Given the description of an element on the screen output the (x, y) to click on. 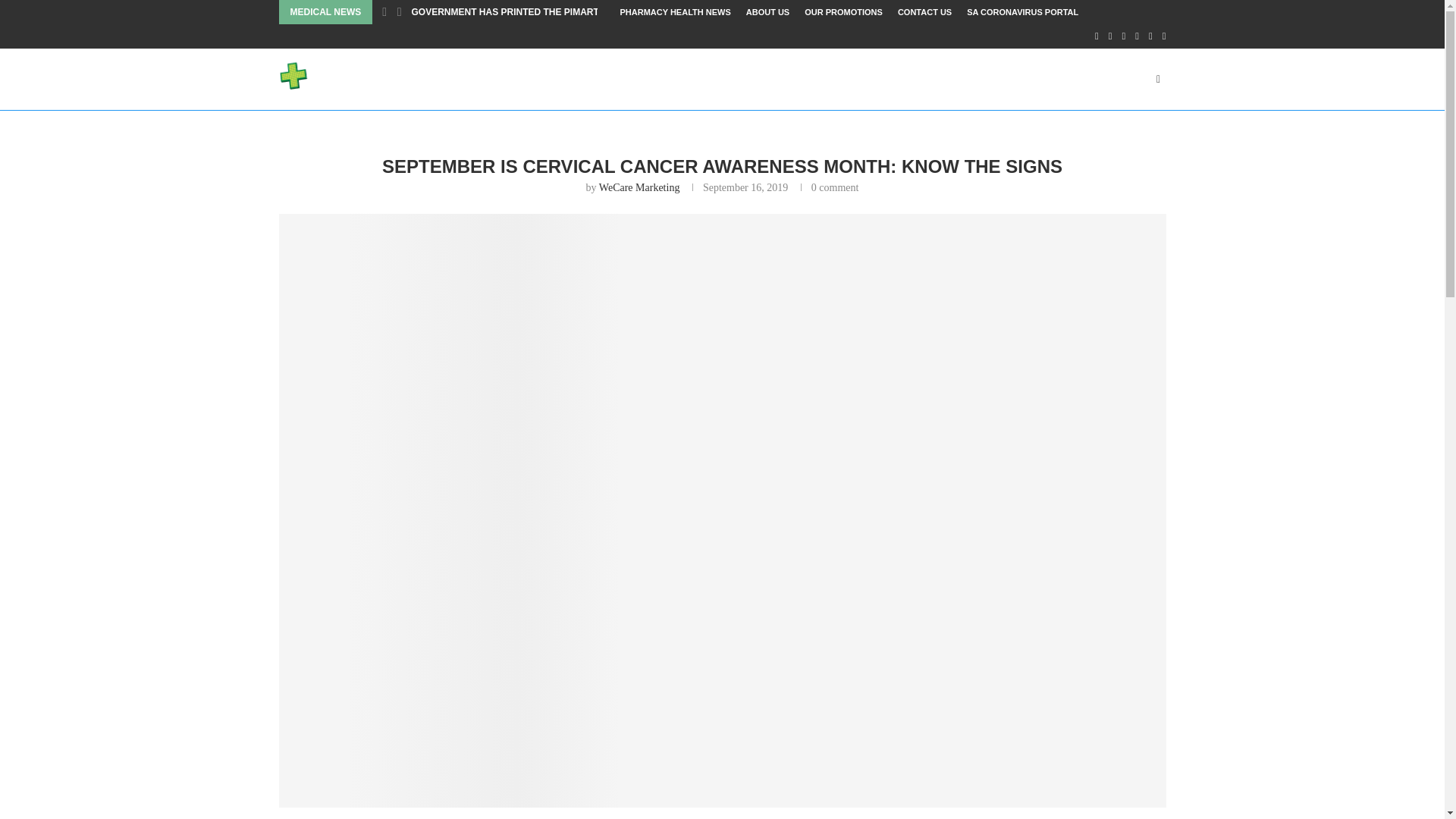
PHARMACY HEALTH NEWS (675, 12)
OUR PROMOTIONS (843, 12)
ABOUT US (767, 12)
